Given the description of an element on the screen output the (x, y) to click on. 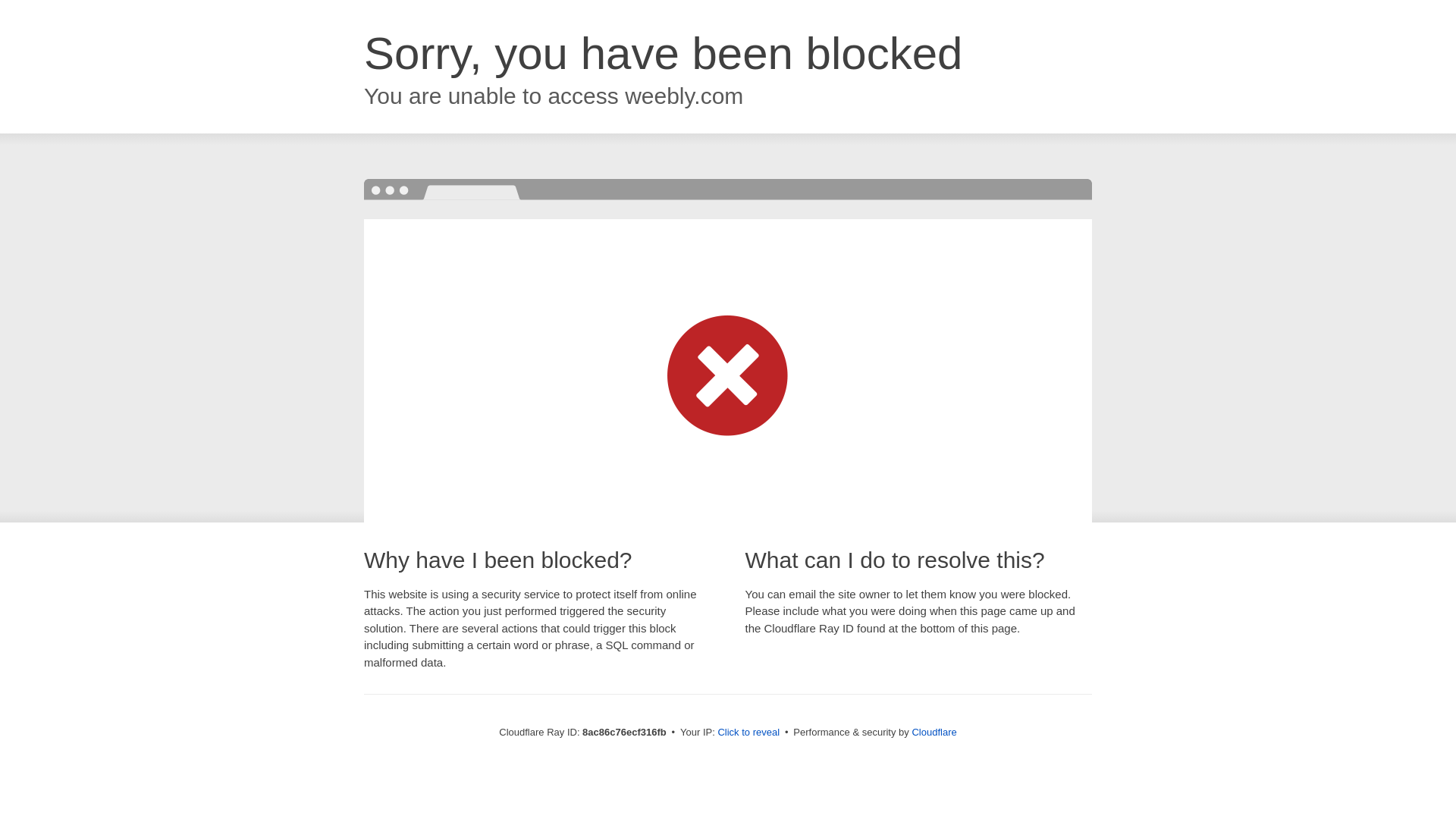
Cloudflare (933, 731)
Click to reveal (747, 732)
